Given the description of an element on the screen output the (x, y) to click on. 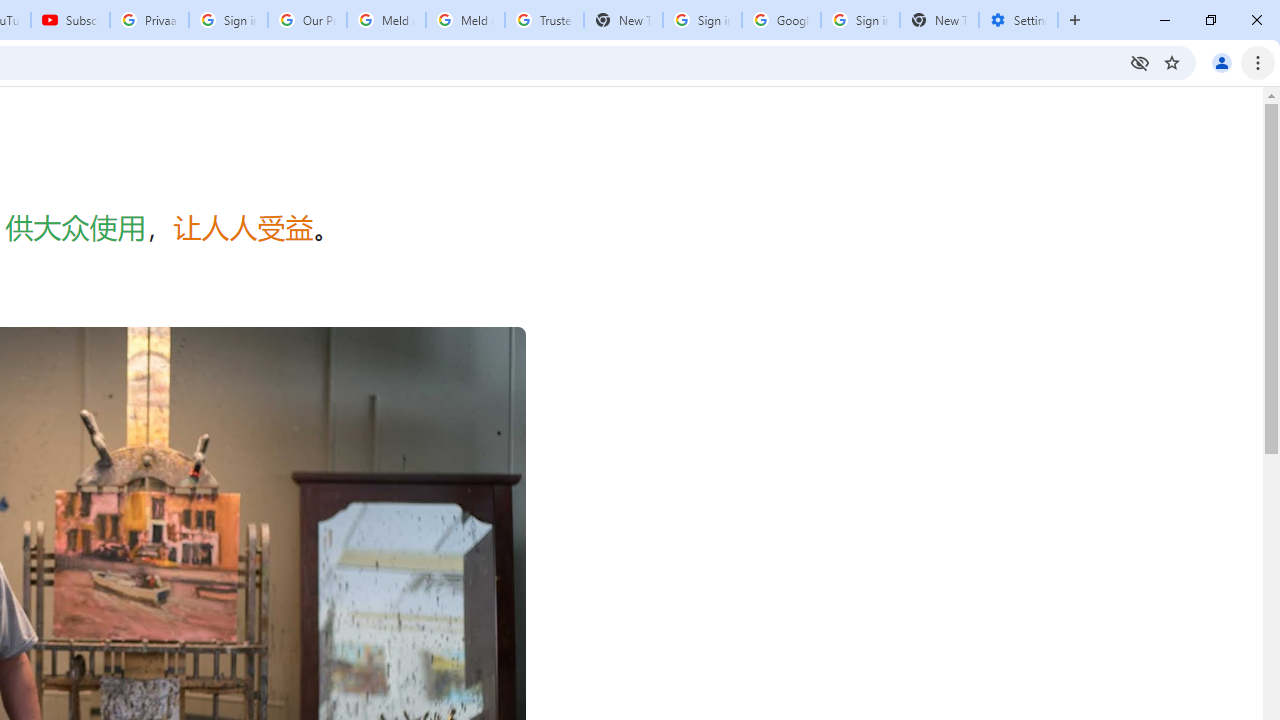
Sign in - Google Accounts (859, 20)
Trusted Information and Content - Google Safety Center (544, 20)
Sign in - Google Accounts (228, 20)
New Tab (939, 20)
Settings - Addresses and more (1018, 20)
Sign in - Google Accounts (702, 20)
Google Cybersecurity Innovations - Google Safety Center (781, 20)
